Given the description of an element on the screen output the (x, y) to click on. 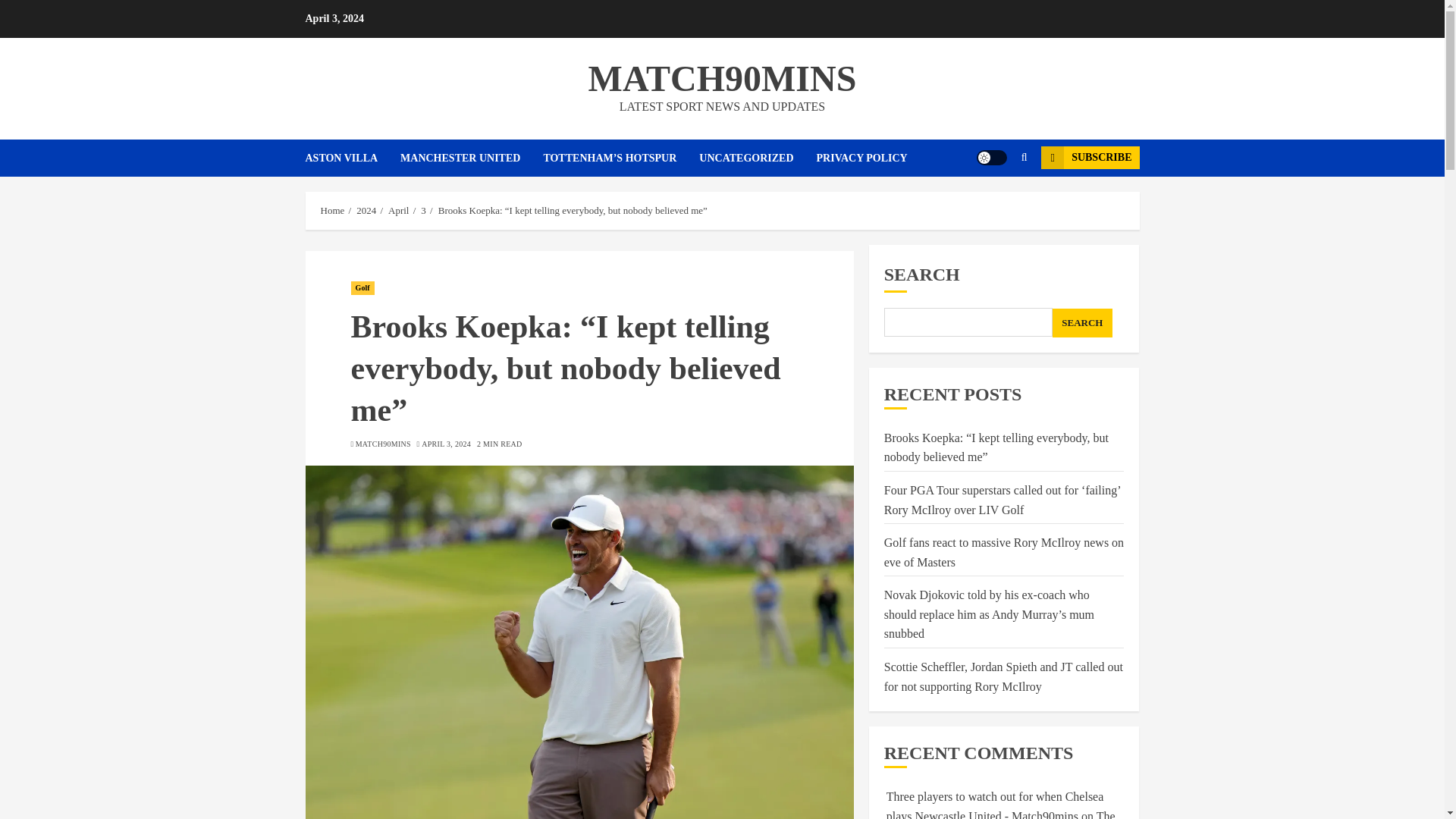
MATCH90MINS (722, 78)
Home (331, 210)
Search (1023, 157)
Search (994, 203)
SUBSCRIBE (1089, 157)
3 (423, 210)
SEARCH (1082, 322)
Golf (362, 287)
PRIVACY POLICY (861, 157)
MANCHESTER UNITED (471, 157)
April (398, 210)
2024 (365, 210)
